Given the description of an element on the screen output the (x, y) to click on. 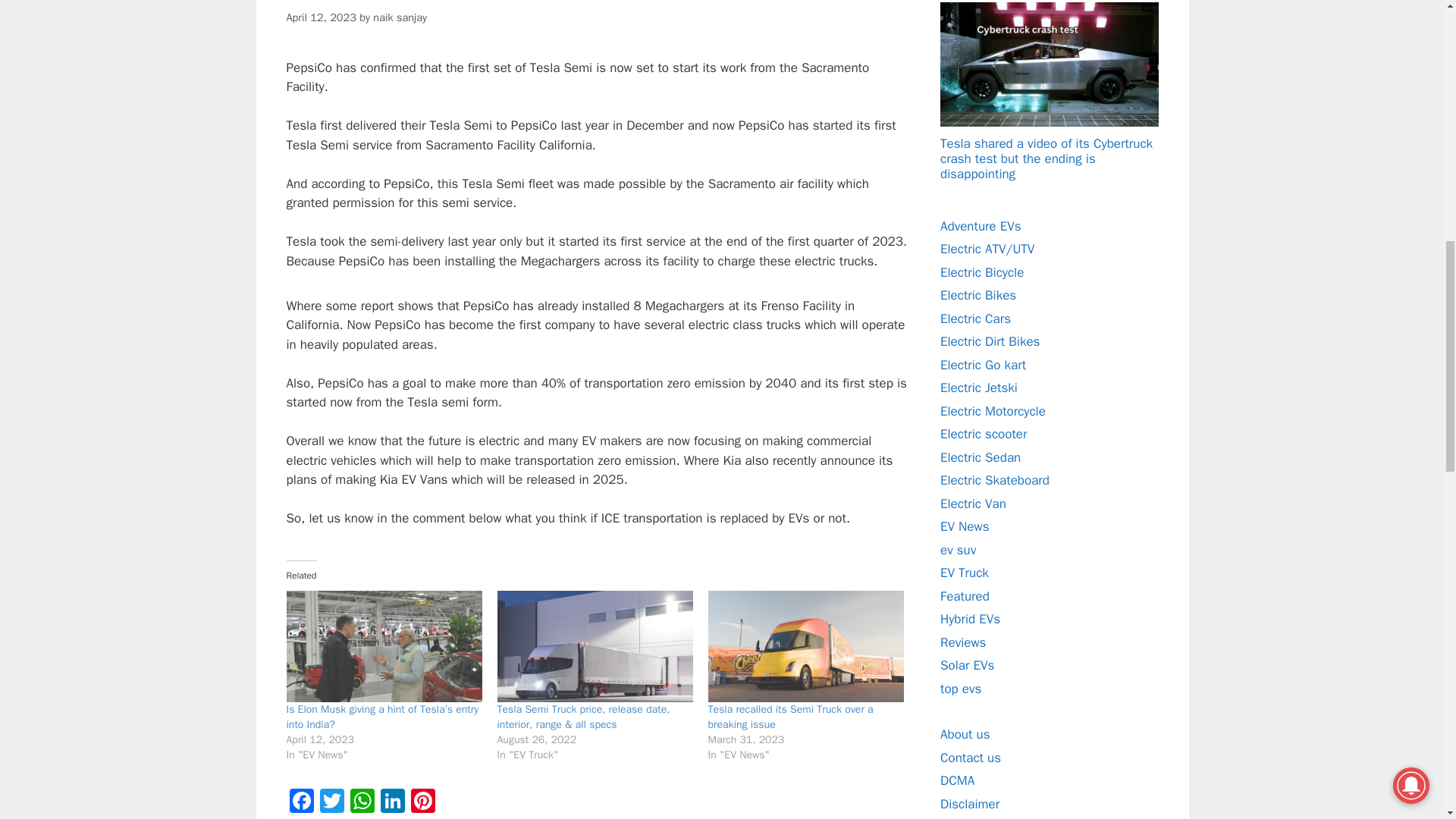
Tesla recalled its Semi Truck over a breaking issue (805, 645)
naik sanjay (399, 17)
Facebook (301, 802)
Facebook (301, 802)
Tesla recalled its Semi Truck over a breaking issue (790, 716)
WhatsApp (362, 802)
Tesla recalled its Semi Truck over a breaking issue (790, 716)
View all posts by naik sanjay (399, 17)
Twitter (332, 802)
Twitter (332, 802)
